Given the description of an element on the screen output the (x, y) to click on. 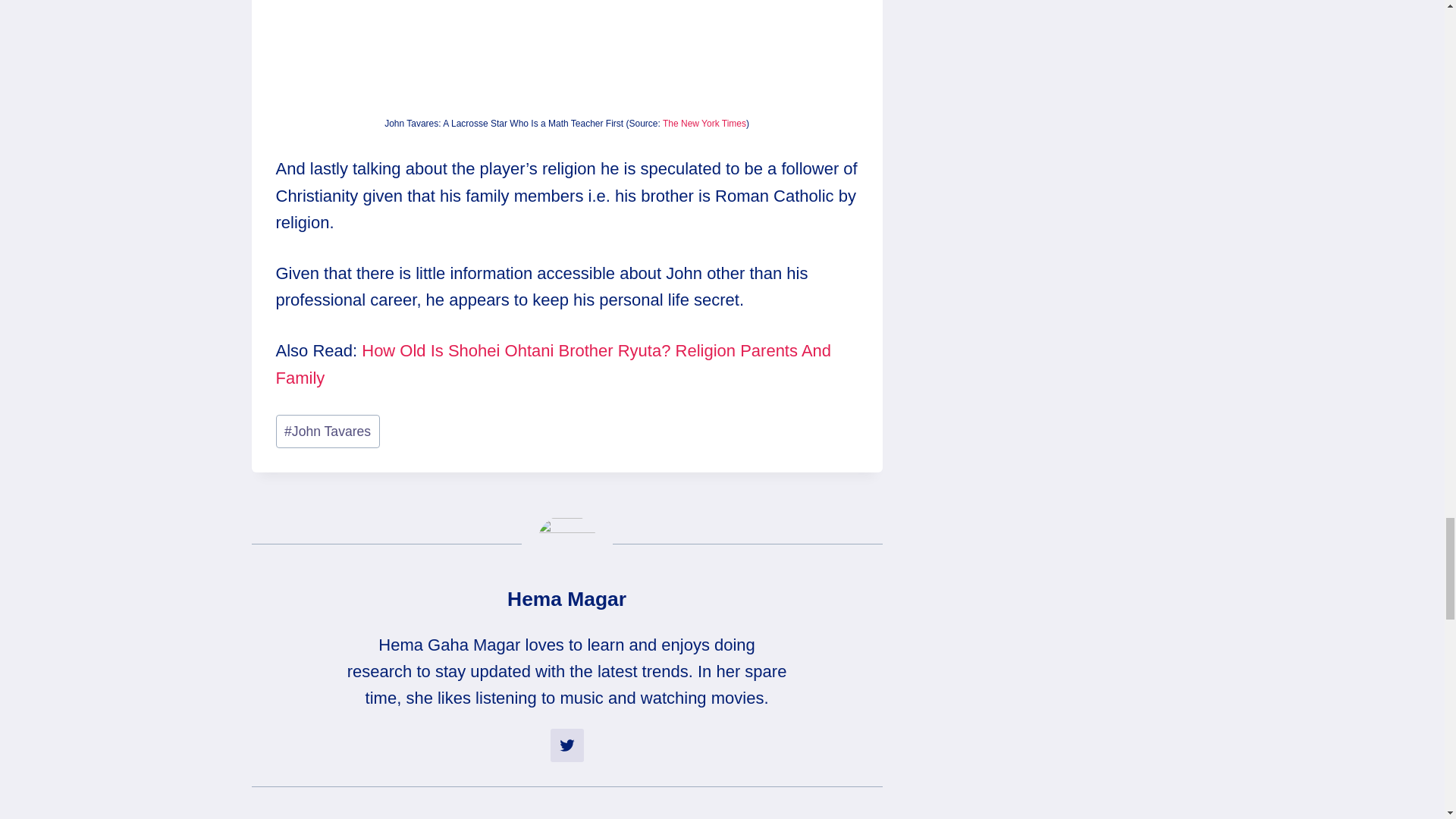
Hema Magar (566, 599)
The New York Times (703, 122)
John Tavares (328, 430)
Posts by Hema Magar (566, 599)
Follow Hema Magar on Twitter (566, 745)
